Given the description of an element on the screen output the (x, y) to click on. 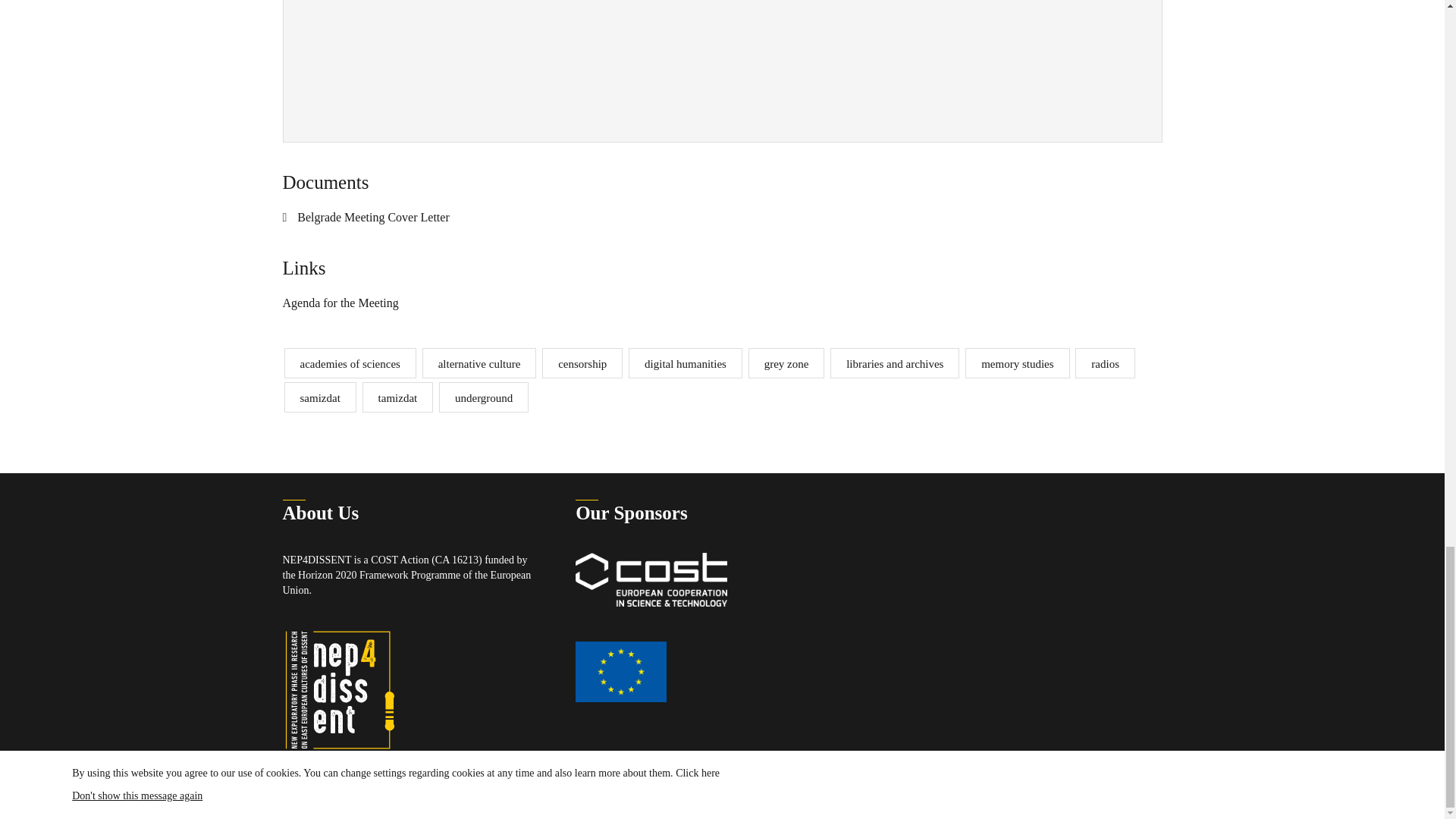
radios (1105, 363)
samizdat (319, 397)
alternative culture (479, 363)
Created by PingSoft (941, 802)
digital humanities (685, 363)
grey zone (786, 363)
underground (483, 397)
memory studies (1016, 363)
Agenda for the Meeting (339, 302)
academies of sciences (348, 363)
libraries and archives (894, 363)
tamizdat (397, 397)
Belgrade Meeting Cover Letter (365, 217)
Belgrade Meeting Cover Letter (365, 217)
censorship (582, 363)
